Given the description of an element on the screen output the (x, y) to click on. 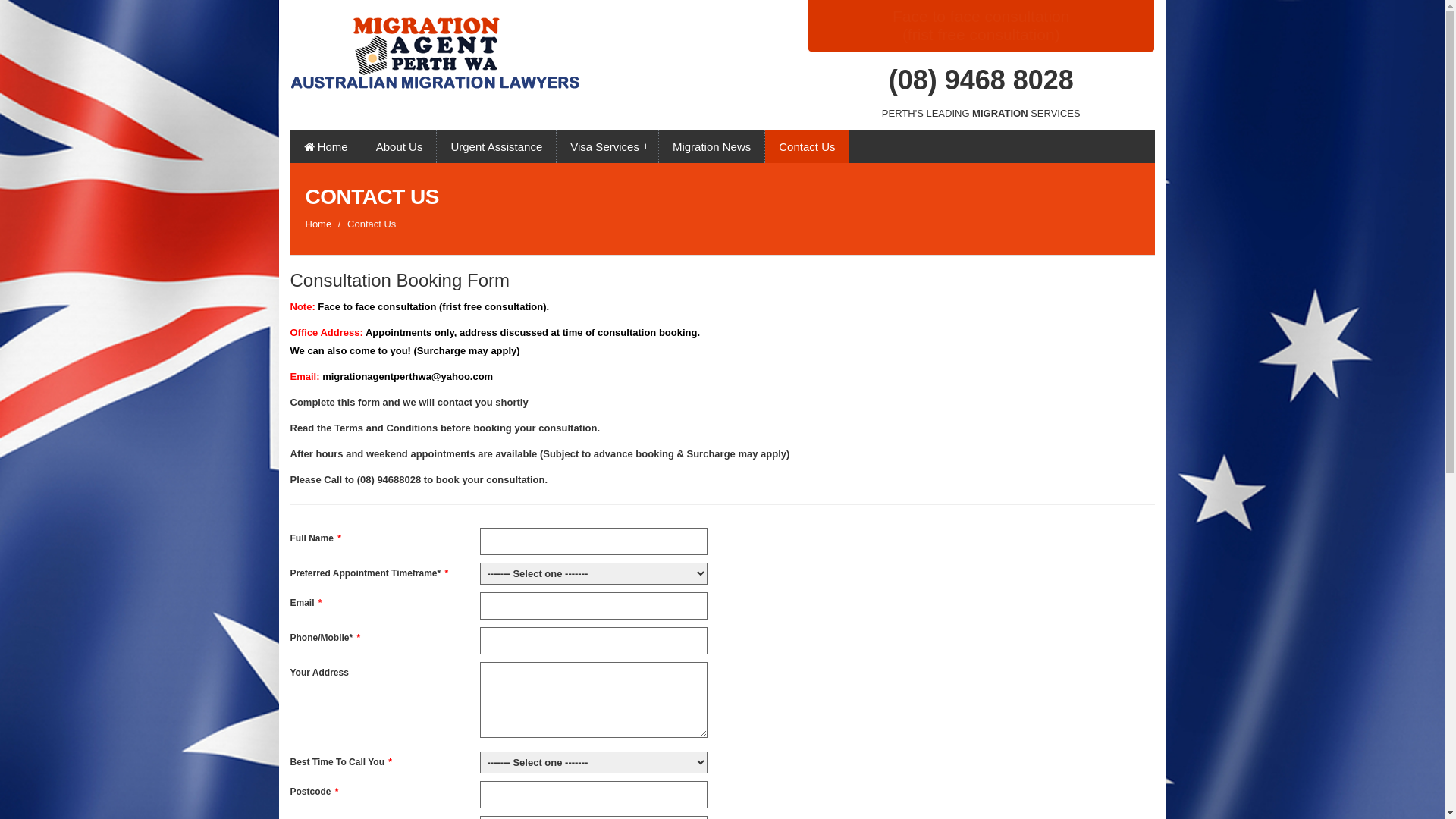
Migration Agent Perth WA Element type: hover (463, 44)
About Us Element type: text (399, 146)
Urgent Assistance Element type: text (495, 146)
Home Element type: text (324, 146)
Visa Services
+ Element type: text (607, 146)
Face to face consultation
(frist free consultation) Element type: text (980, 25)
Contact Us Element type: text (806, 146)
(08) 9468 8028 Element type: text (980, 79)
Home Element type: text (317, 223)
Migration News Element type: text (711, 146)
